Given the description of an element on the screen output the (x, y) to click on. 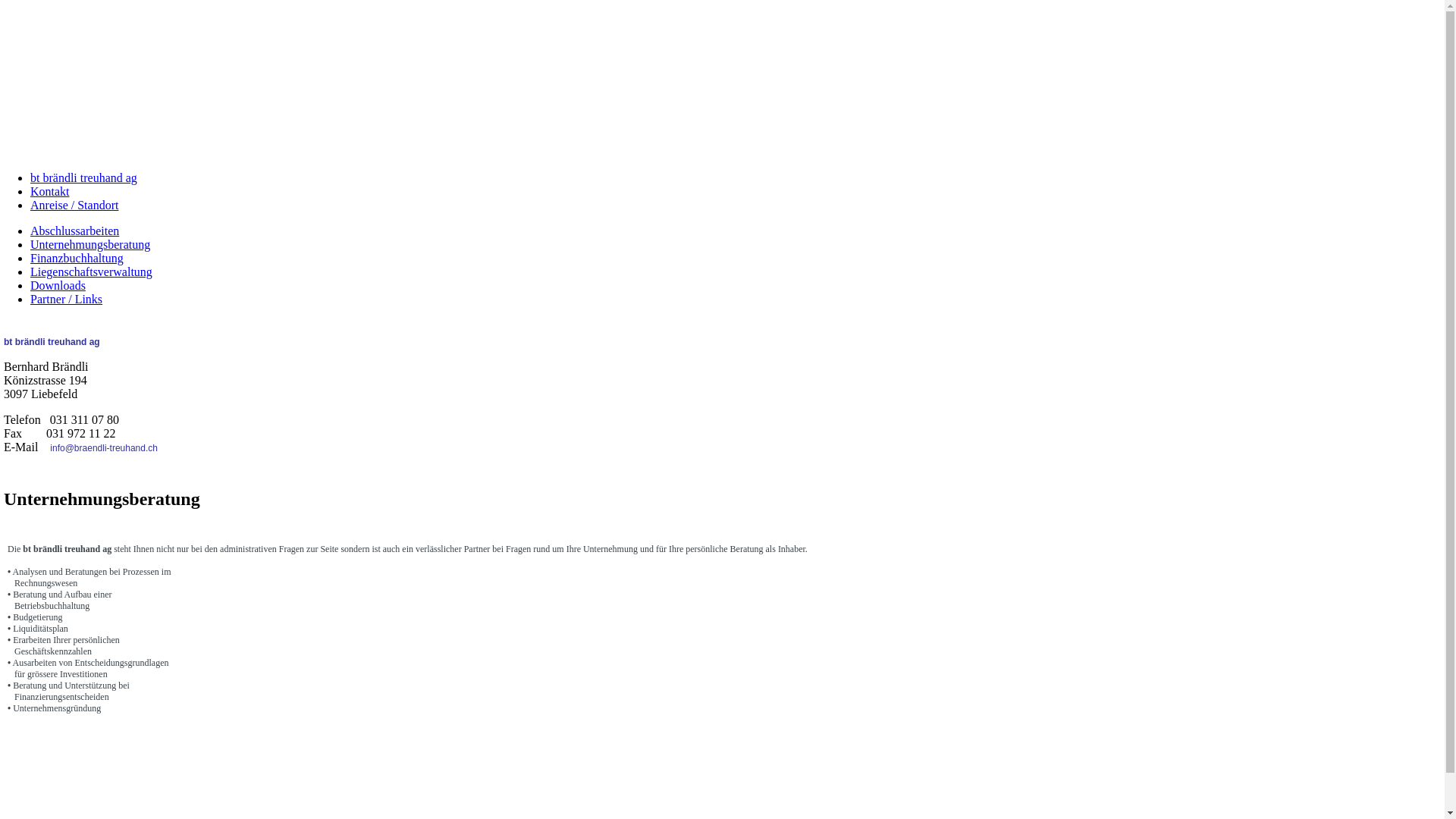
Finanzbuchhaltung Element type: text (76, 257)
Kontakt Element type: text (49, 191)
Liegenschaftsverwaltung Element type: text (91, 271)
Anreise / Standort Element type: text (74, 204)
Abschlussarbeiten Element type: text (74, 230)
Partner / Links Element type: text (66, 298)
info@braendli-treuhand.ch Element type: text (103, 447)
Downloads Element type: text (57, 285)
Unternehmungsberatung Element type: text (90, 244)
